Given the description of an element on the screen output the (x, y) to click on. 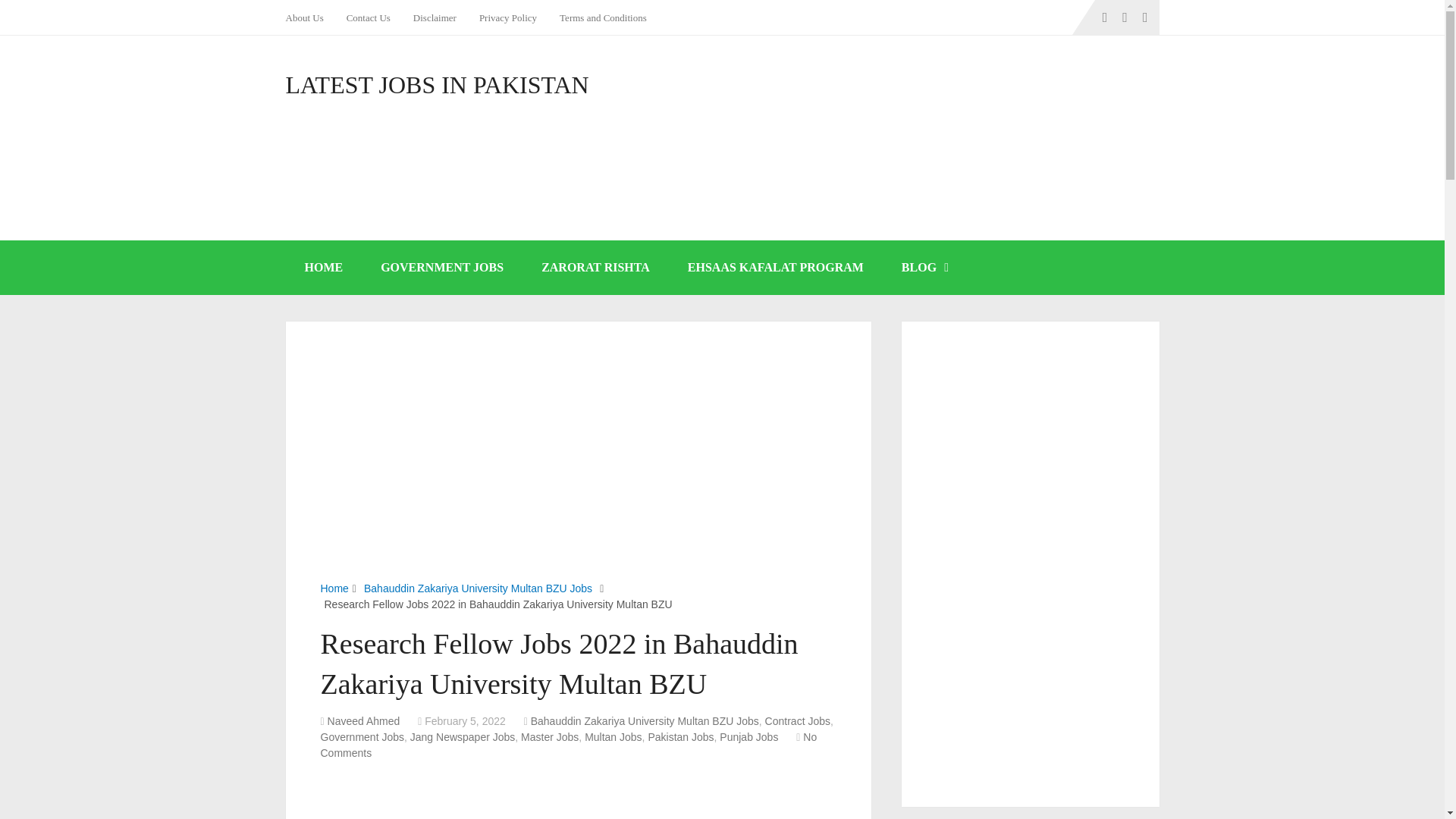
View all posts in Government Jobs (362, 736)
Naveed Ahmed (363, 720)
LATEST JOBS IN PAKISTAN (436, 84)
BLOG (923, 267)
Jang Newspaper Jobs (462, 736)
Disclaimer (434, 17)
View all posts in Master Jobs (549, 736)
Bahauddin Zakariya University Multan BZU Jobs (644, 720)
Posts by Naveed Ahmed (363, 720)
